Given the description of an element on the screen output the (x, y) to click on. 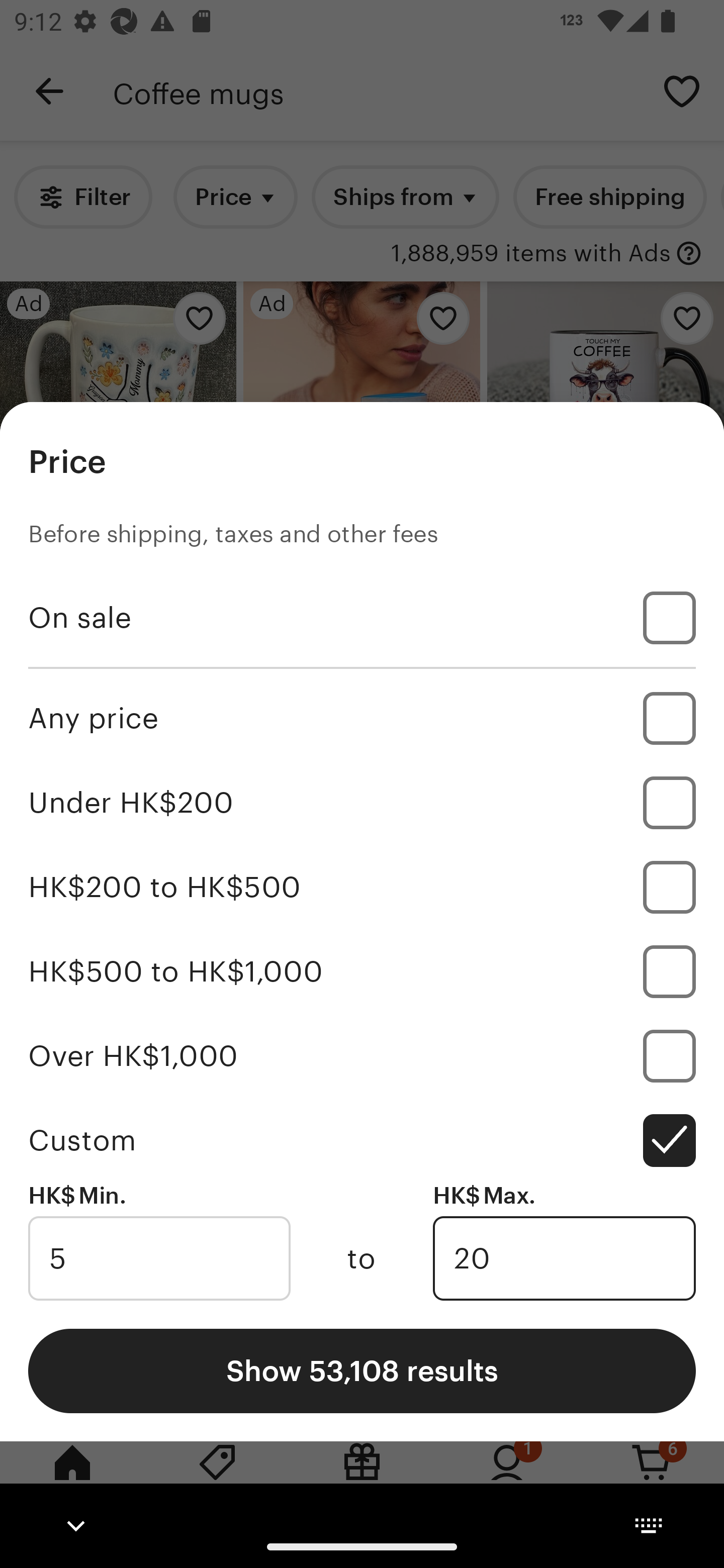
On sale (362, 617)
Any price (362, 717)
Under HK$200 (362, 802)
HK$200 to HK$500 (362, 887)
HK$500 to HK$1,000 (362, 970)
Over HK$1,000 (362, 1054)
Custom (362, 1139)
5 (159, 1257)
20 (563, 1257)
Show 53,108 results (361, 1370)
